Given the description of an element on the screen output the (x, y) to click on. 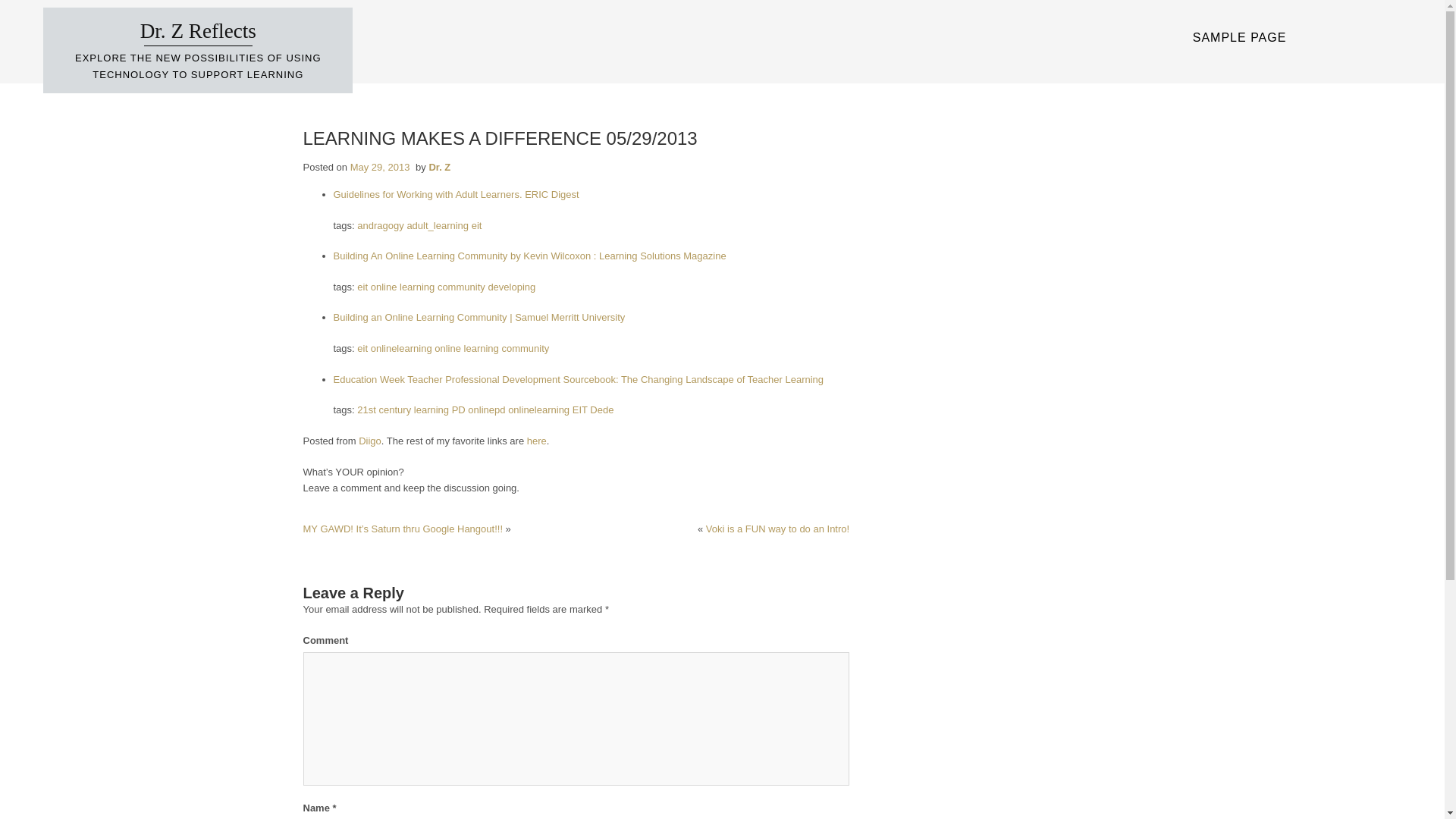
Guidelines for Working with Adult Learners. ERIC Digest (456, 194)
Dr. Z Reflects (197, 30)
SAMPLE PAGE (1240, 37)
learning (430, 409)
eit (362, 286)
EIT (580, 409)
Voki is a FUN way to do an Intro! (777, 528)
community (524, 348)
Diigo (369, 440)
onlinepd (486, 409)
andragogy (379, 225)
century (395, 409)
learning (415, 286)
Dr. Z (438, 166)
May 29, 2013 (380, 166)
